Given the description of an element on the screen output the (x, y) to click on. 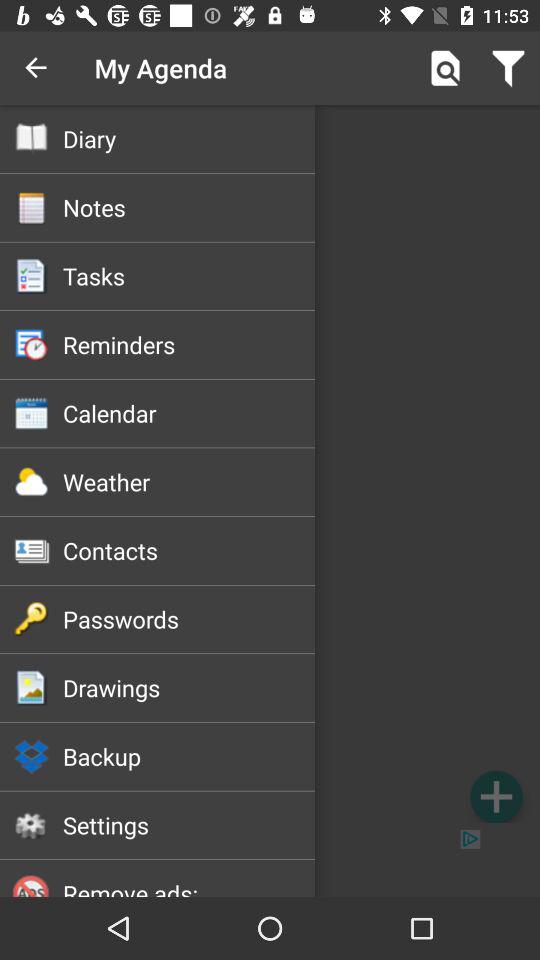
scroll to the calendar item (188, 413)
